Given the description of an element on the screen output the (x, y) to click on. 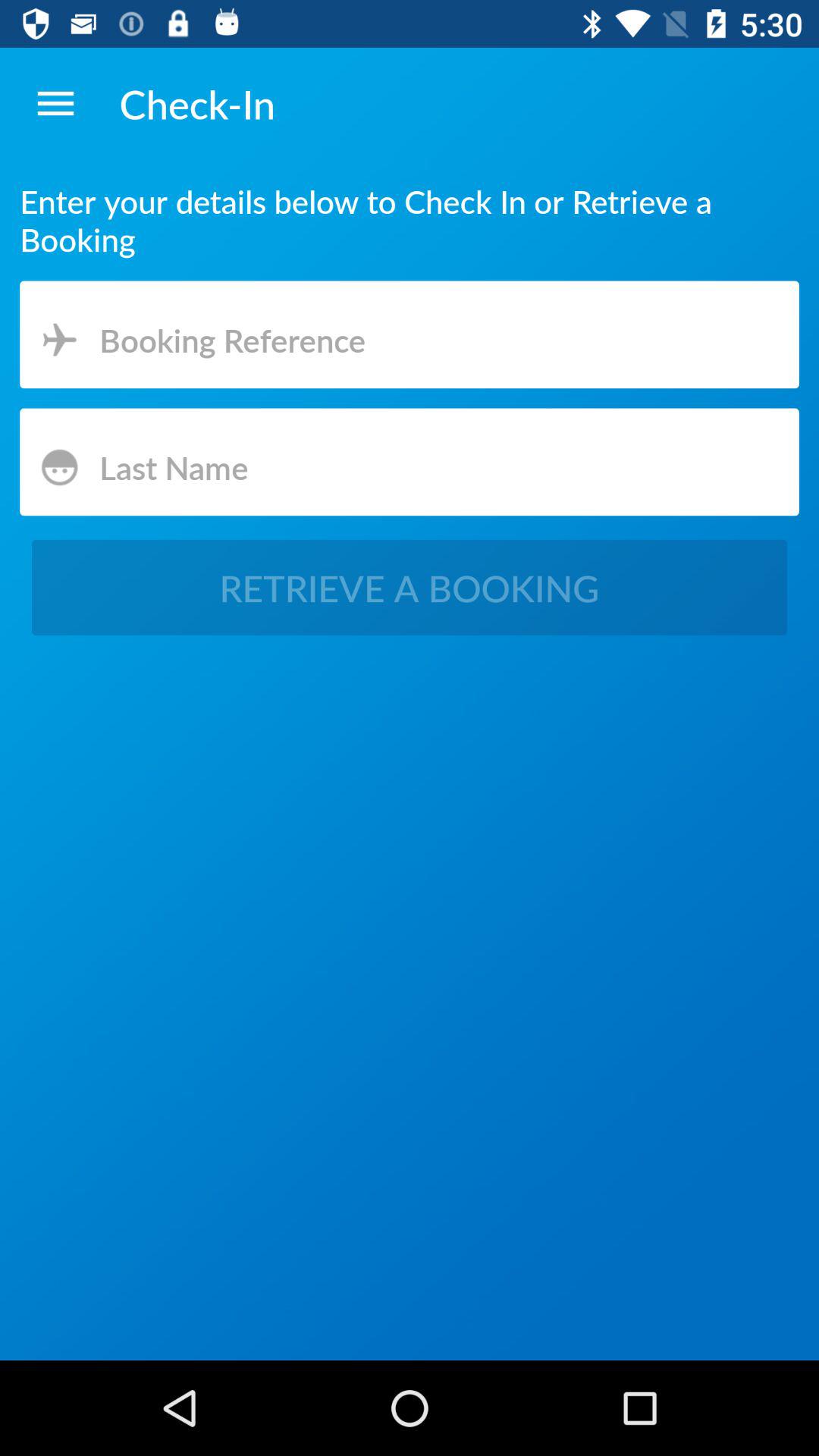
add booking preference (409, 336)
